Given the description of an element on the screen output the (x, y) to click on. 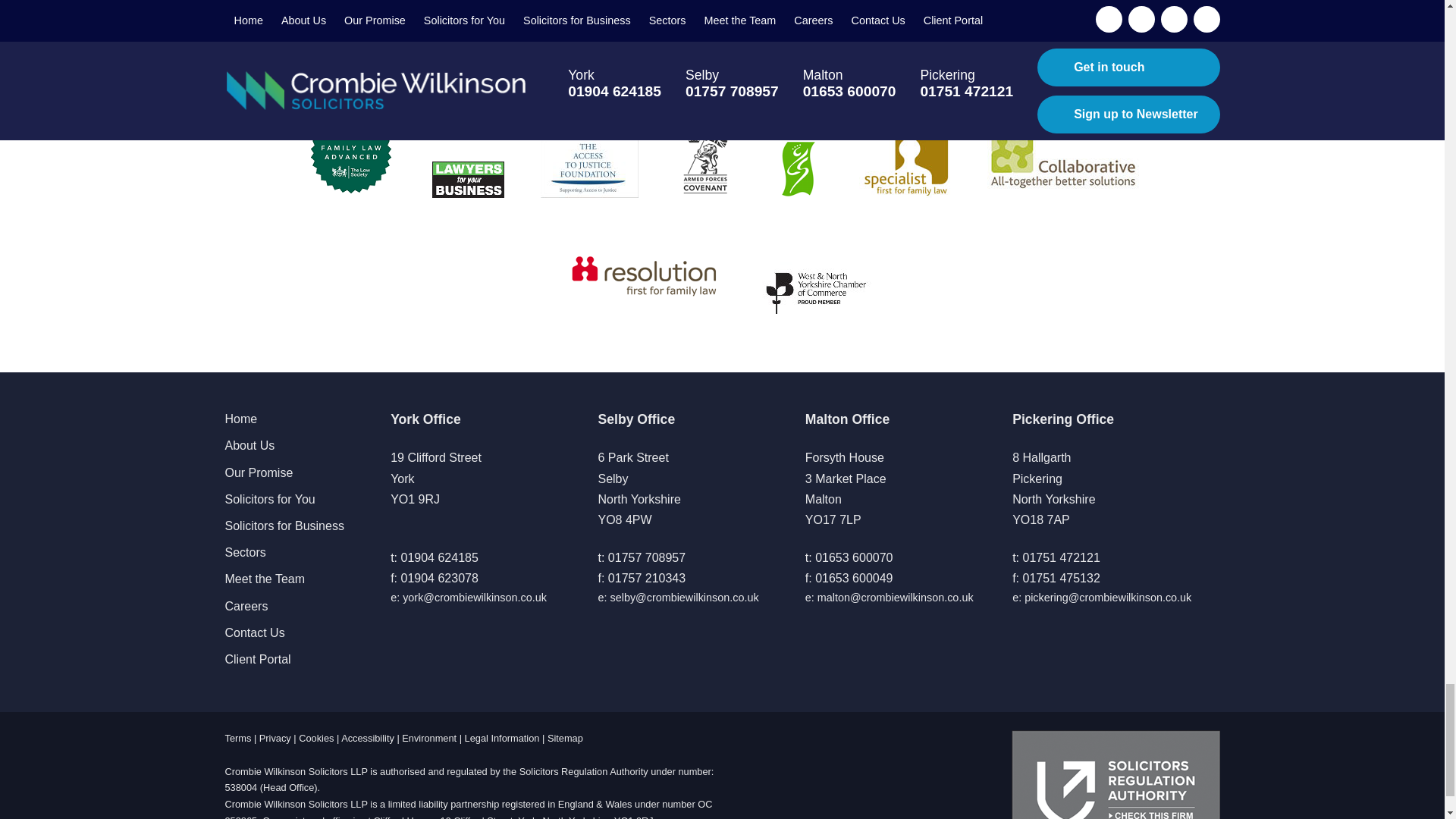
Solicitors Regulation Authority (1115, 774)
